Given the description of an element on the screen output the (x, y) to click on. 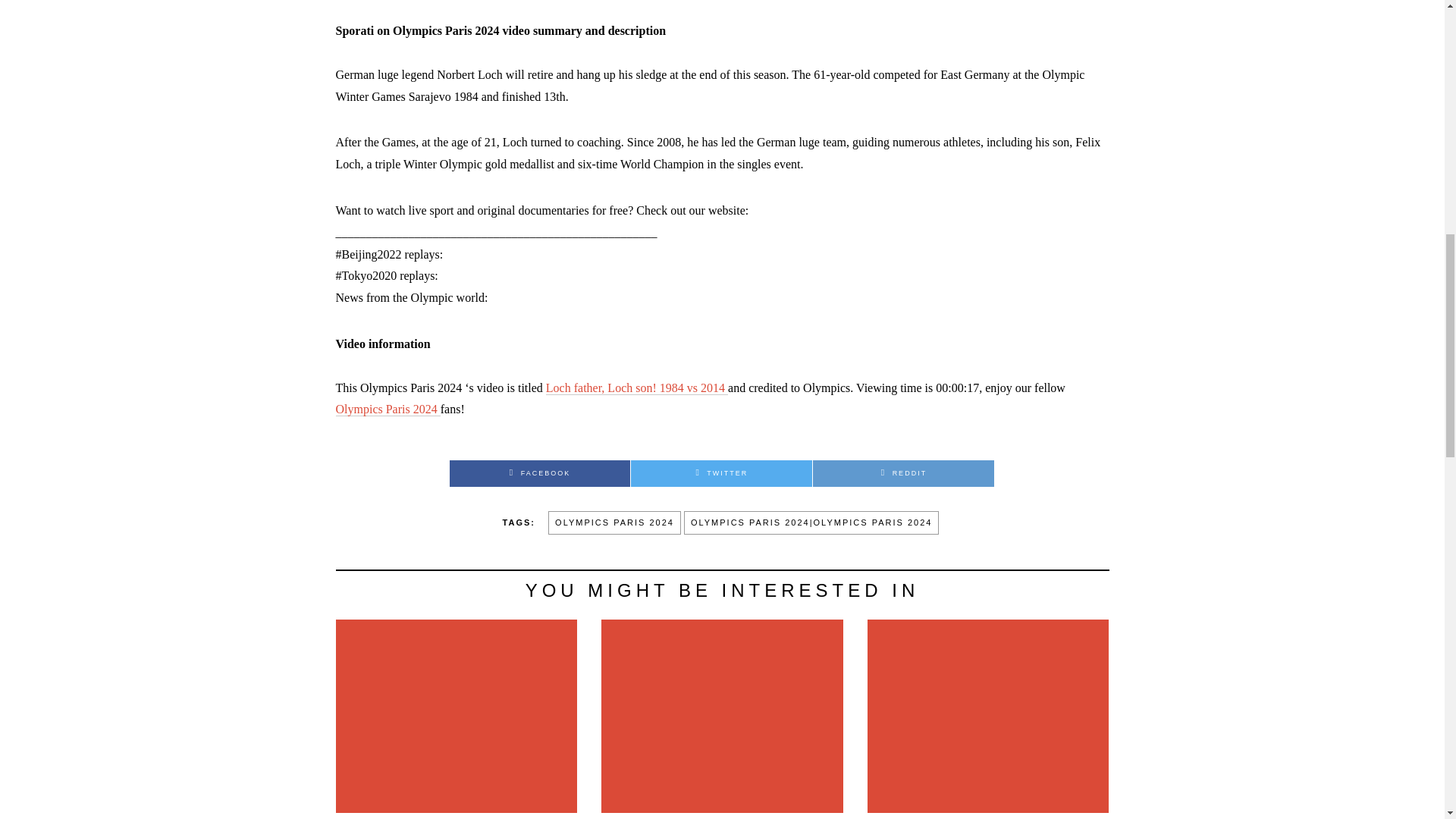
Loch father, Loch son! 1984 vs 2014 (637, 387)
TWITTER (721, 473)
Facebook (539, 473)
FACEBOOK (539, 473)
Olympics Paris 2024 (386, 409)
REDDIT (903, 473)
Reddit (903, 473)
Twitter (721, 473)
OLYMPICS PARIS 2024 (614, 523)
